Given the description of an element on the screen output the (x, y) to click on. 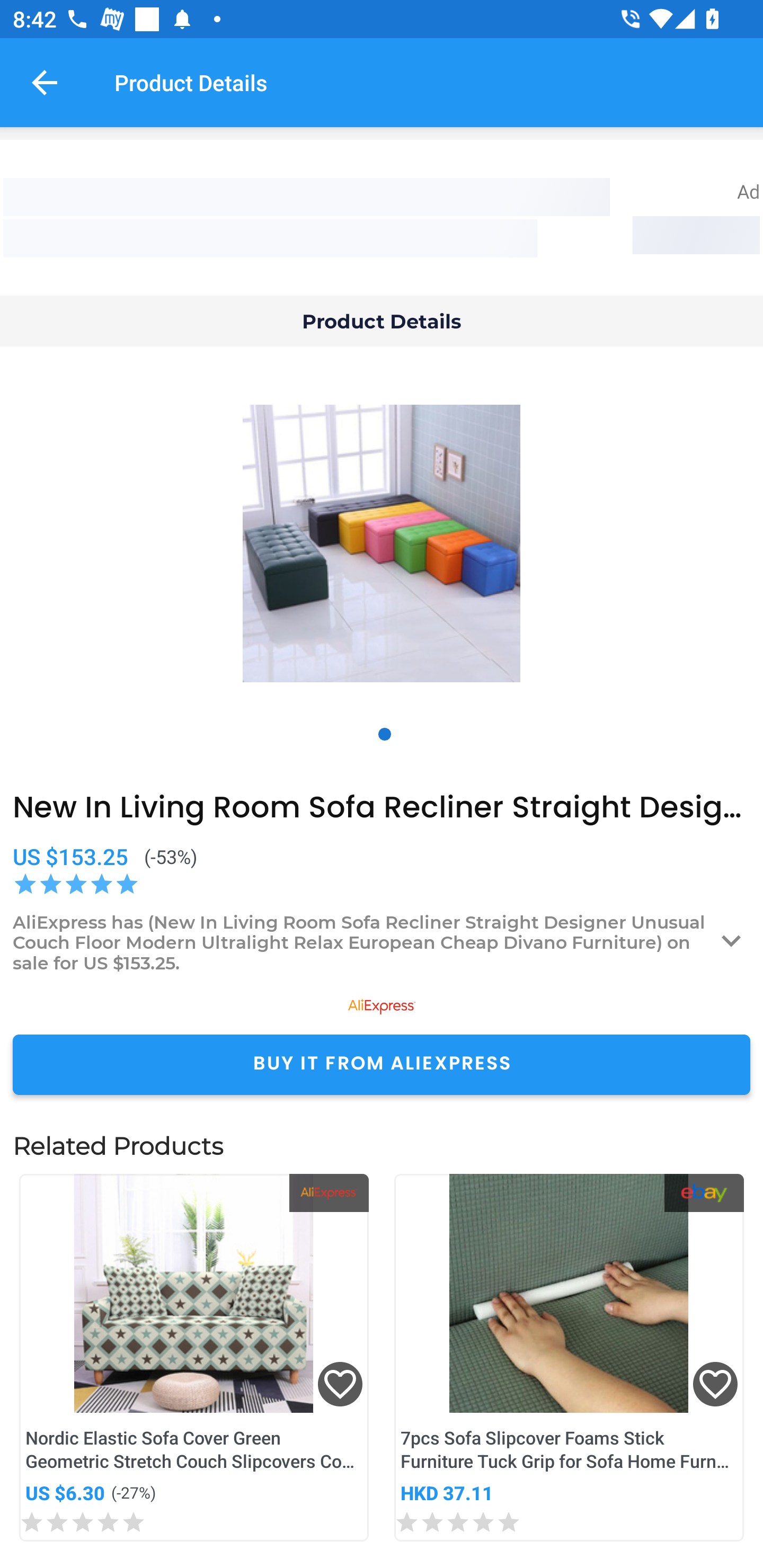
Navigate up (44, 82)
BUY IT FROM ALIEXPRESS (381, 1064)
